Given the description of an element on the screen output the (x, y) to click on. 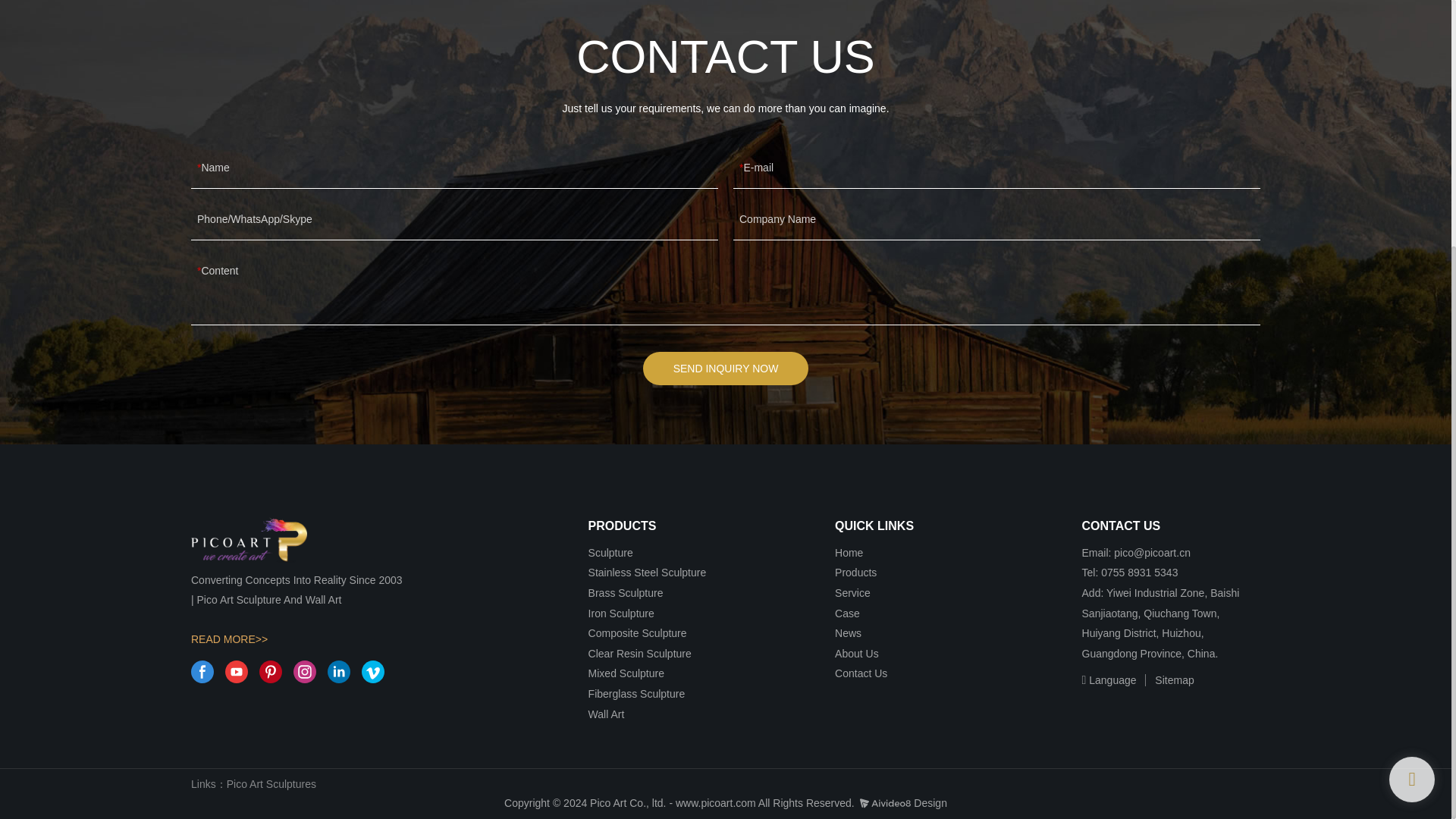
facebook (202, 671)
SEND INQUIRY NOW (726, 368)
pinterest (270, 671)
youtube (236, 671)
